Given the description of an element on the screen output the (x, y) to click on. 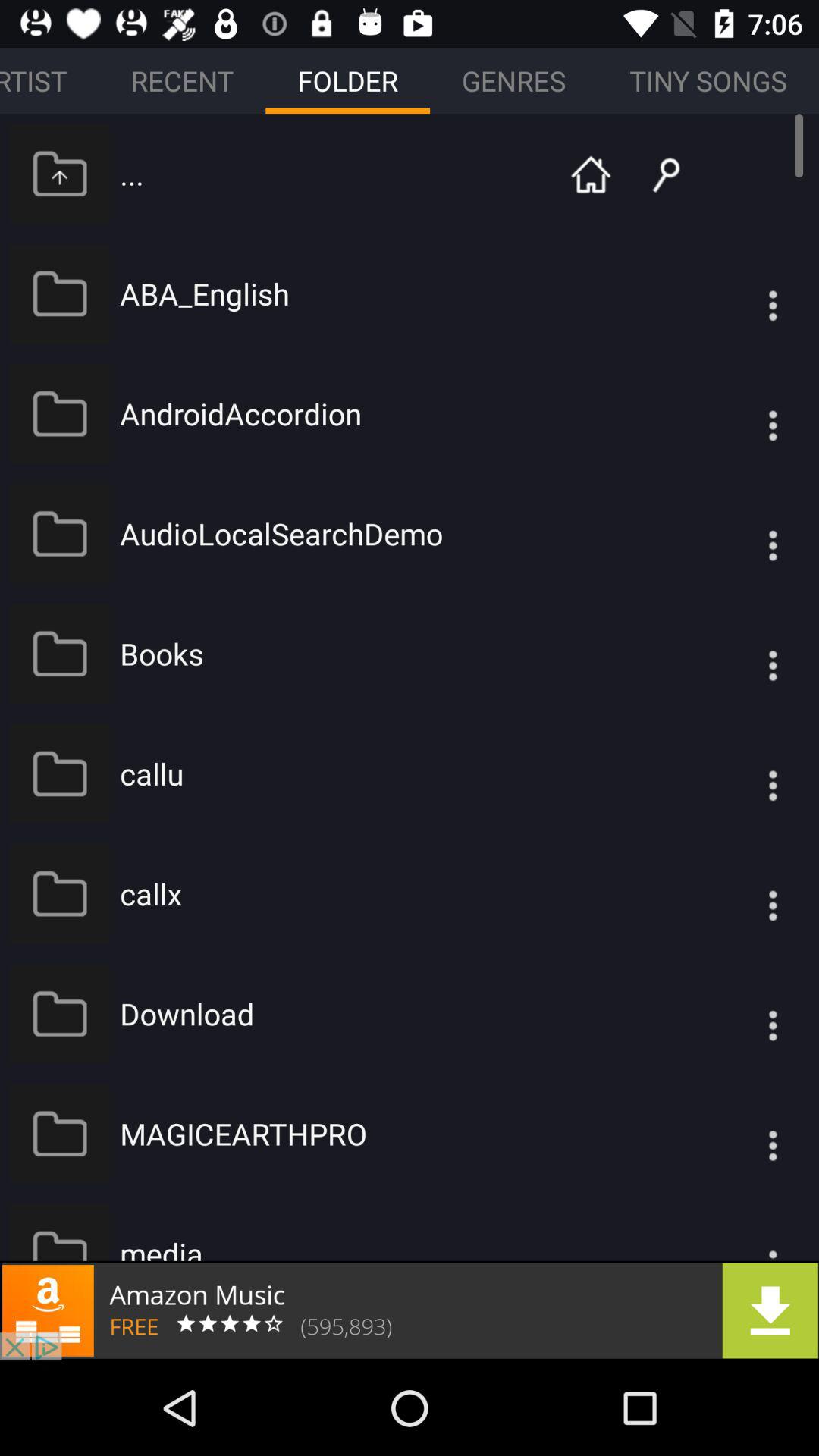
search folders (654, 173)
